Given the description of an element on the screen output the (x, y) to click on. 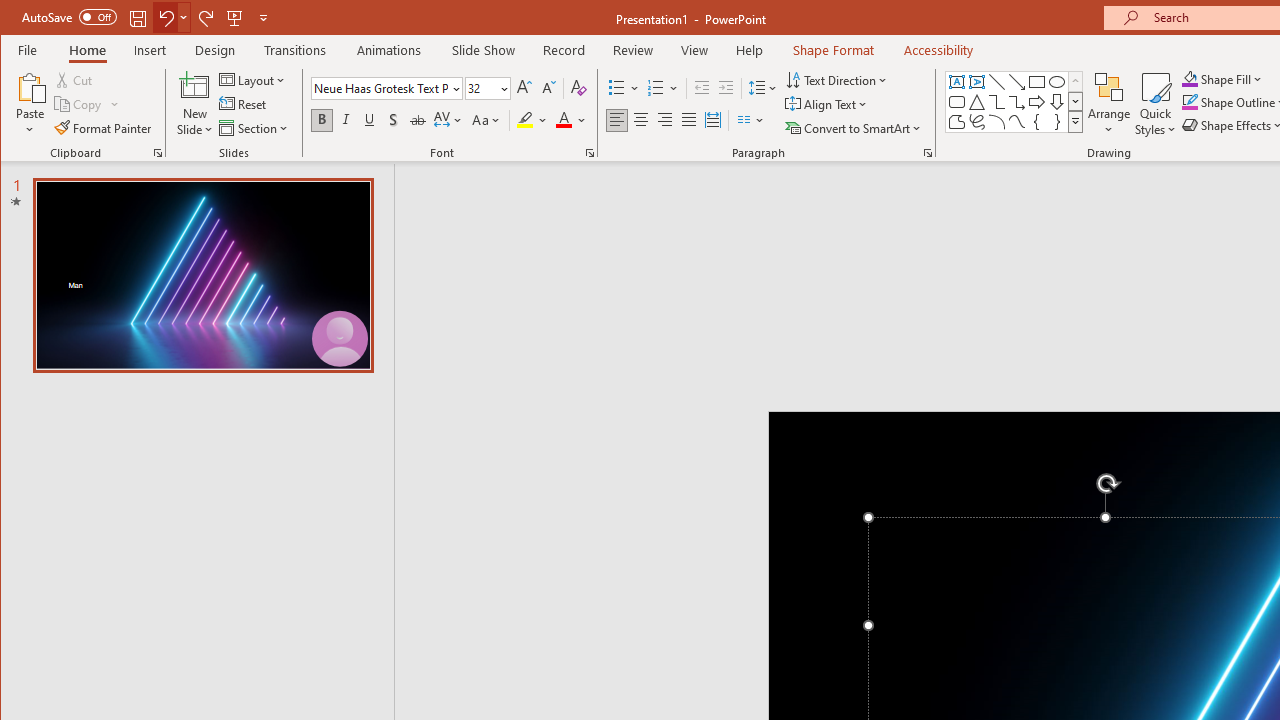
Freeform: Scribble (976, 121)
Strikethrough (417, 119)
Row up (1074, 81)
Oval (1057, 82)
Shadow (393, 119)
Font Size (487, 88)
Underline (369, 119)
Columns (751, 119)
Distributed (712, 119)
Italic (346, 119)
